Given the description of an element on the screen output the (x, y) to click on. 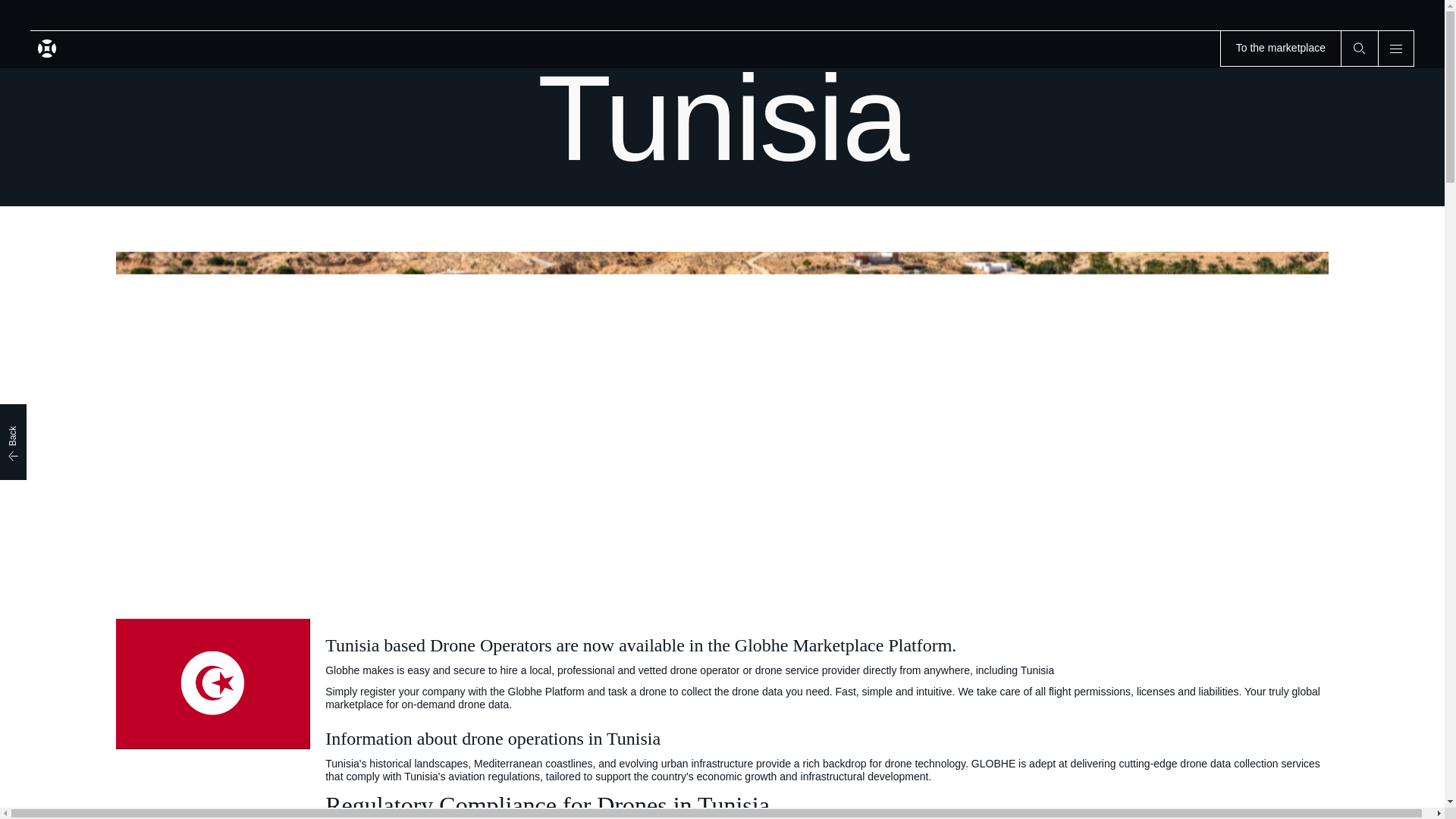
To the marketplace (1280, 48)
